Given the description of an element on the screen output the (x, y) to click on. 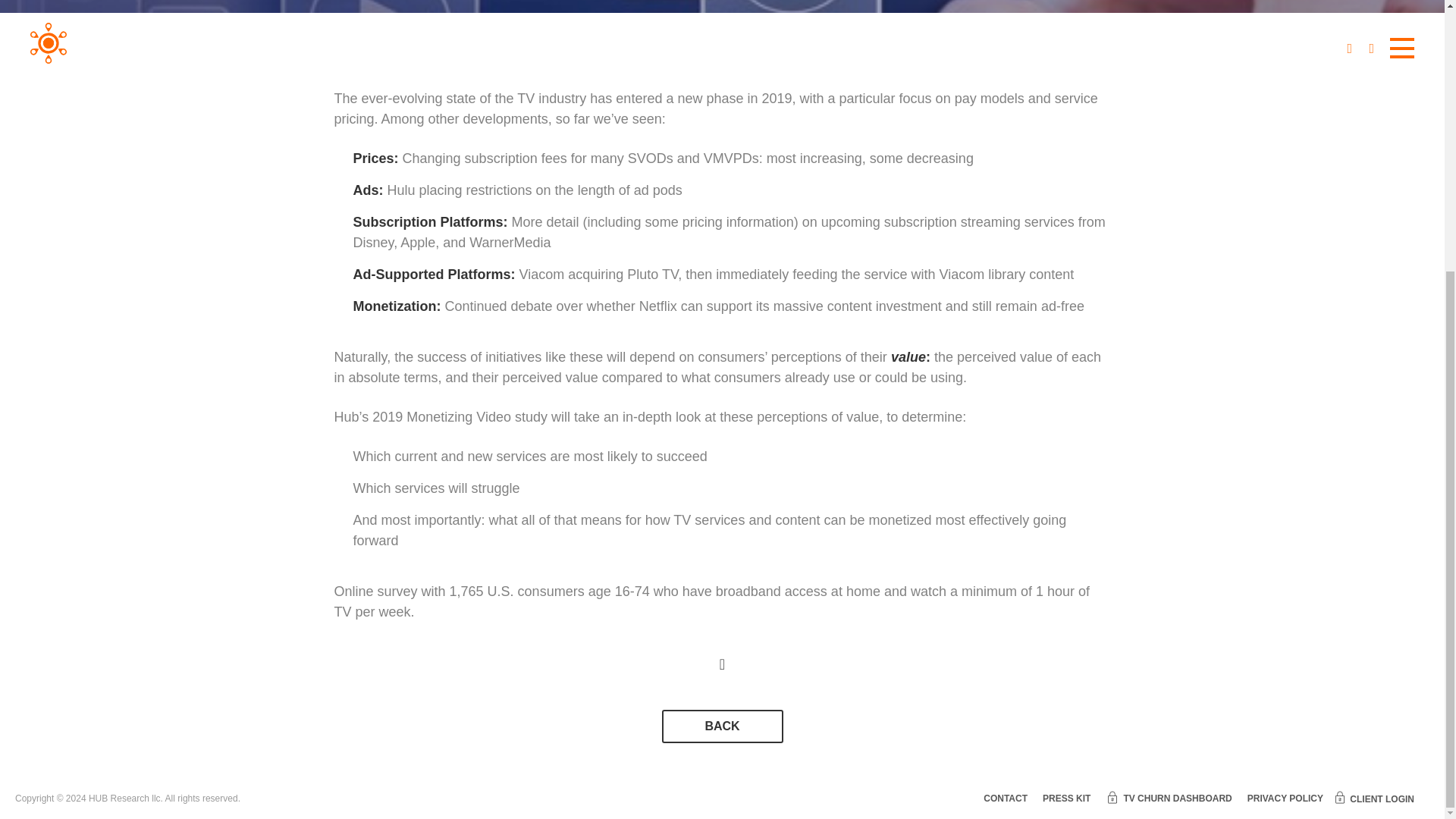
TV CHURN DASHBOARD (1168, 798)
PRIVACY POLICY (1285, 798)
CLIENT LOGIN (1374, 797)
BACK (722, 726)
CONTACT (1005, 798)
PRESS KIT (1066, 798)
